Given the description of an element on the screen output the (x, y) to click on. 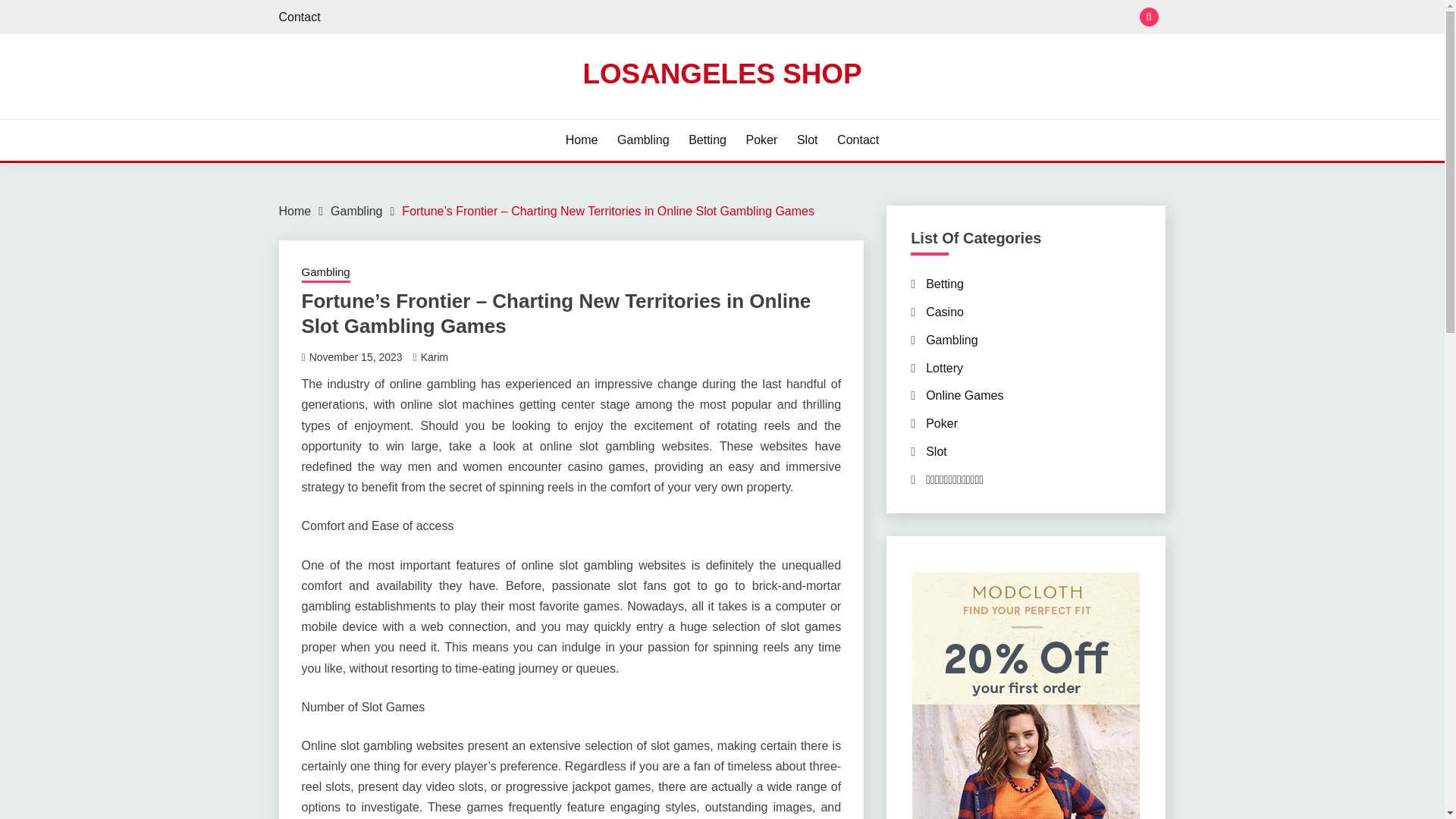
Poker (761, 140)
Poker (942, 422)
Online Games (964, 395)
Karim (434, 357)
Home (295, 210)
Search (832, 18)
Slot (807, 140)
Gambling (325, 273)
Contact (858, 140)
Lottery (944, 367)
Casino (944, 311)
Gambling (642, 140)
Gambling (355, 210)
Betting (944, 283)
LOSANGELES SHOP (721, 73)
